Given the description of an element on the screen output the (x, y) to click on. 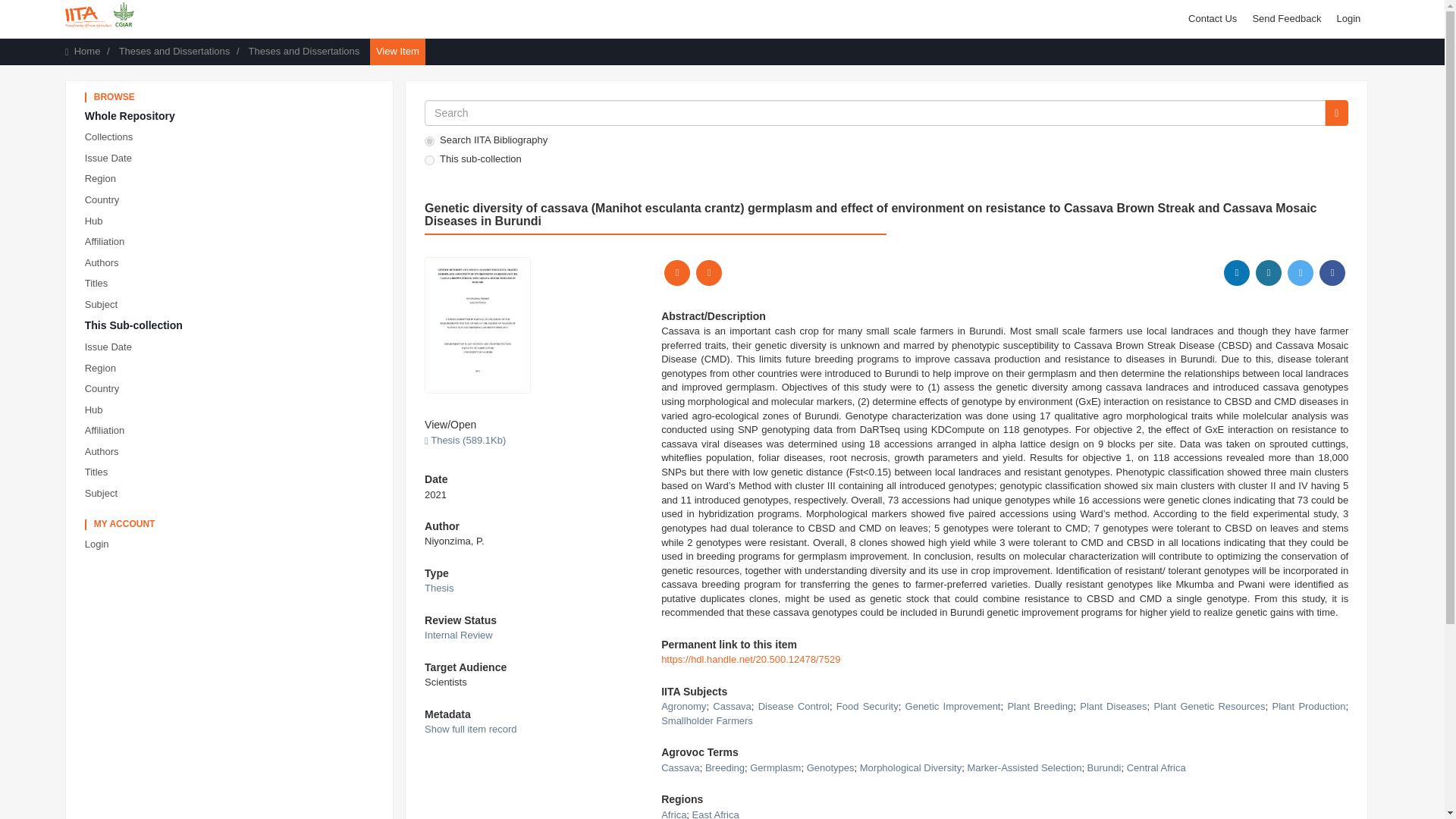
Issue Date (232, 347)
Send Feedback (1285, 18)
Internal Review (459, 634)
Theses and Dissertations (303, 50)
Region (232, 179)
Show full item record (470, 728)
Issue Date (232, 158)
Go (1336, 112)
Share on e-mail (708, 272)
Whole Repository (232, 116)
